Given the description of an element on the screen output the (x, y) to click on. 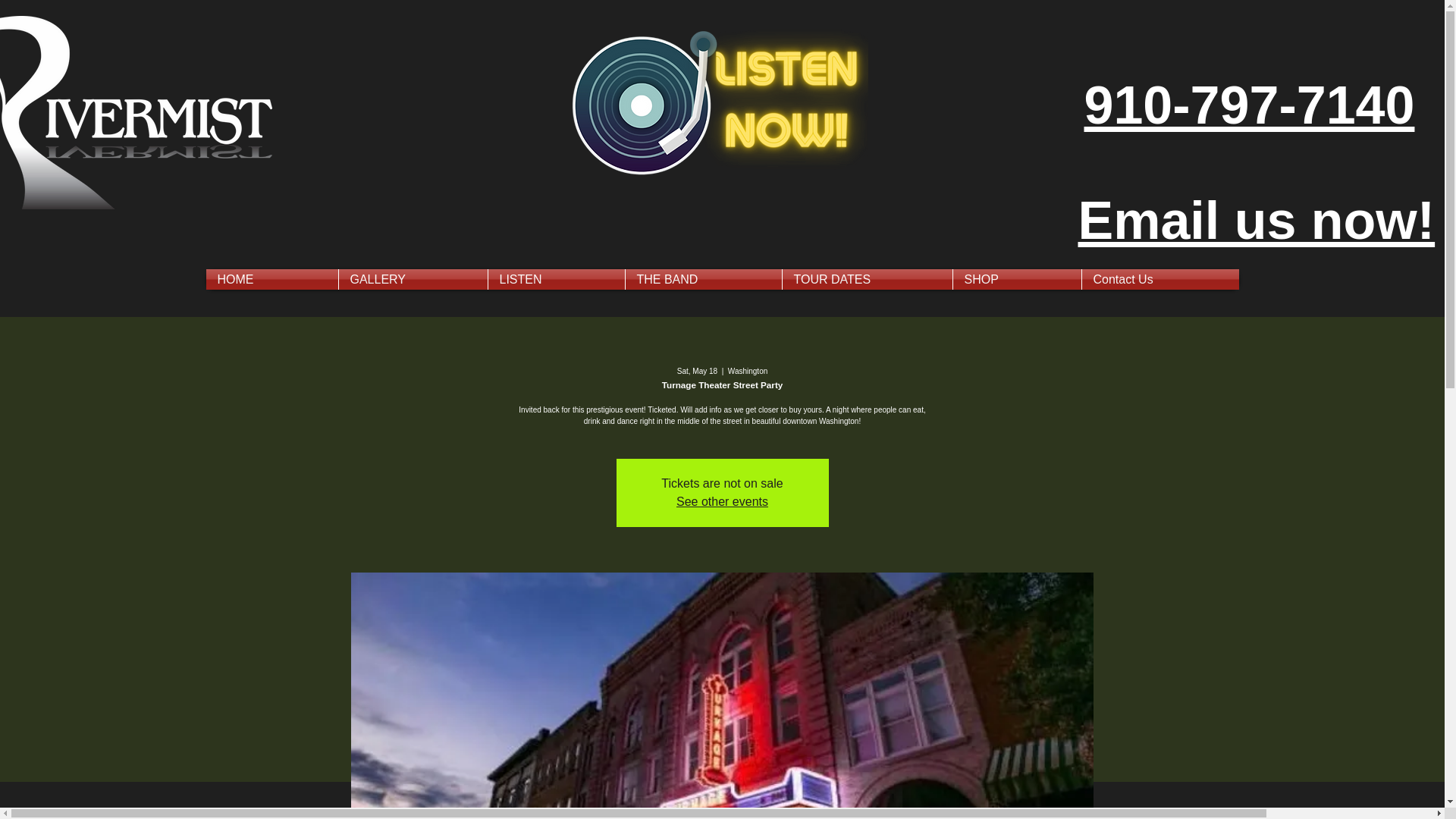
SHOP (1016, 279)
Email us now! (1256, 220)
Contact Us (1160, 279)
See other events (722, 501)
910-797-7140 (1249, 105)
THE BAND (702, 279)
shine.png (717, 105)
GALLERY (411, 279)
HOME (271, 279)
LISTEN (555, 279)
TOUR DATES (867, 279)
